Given the description of an element on the screen output the (x, y) to click on. 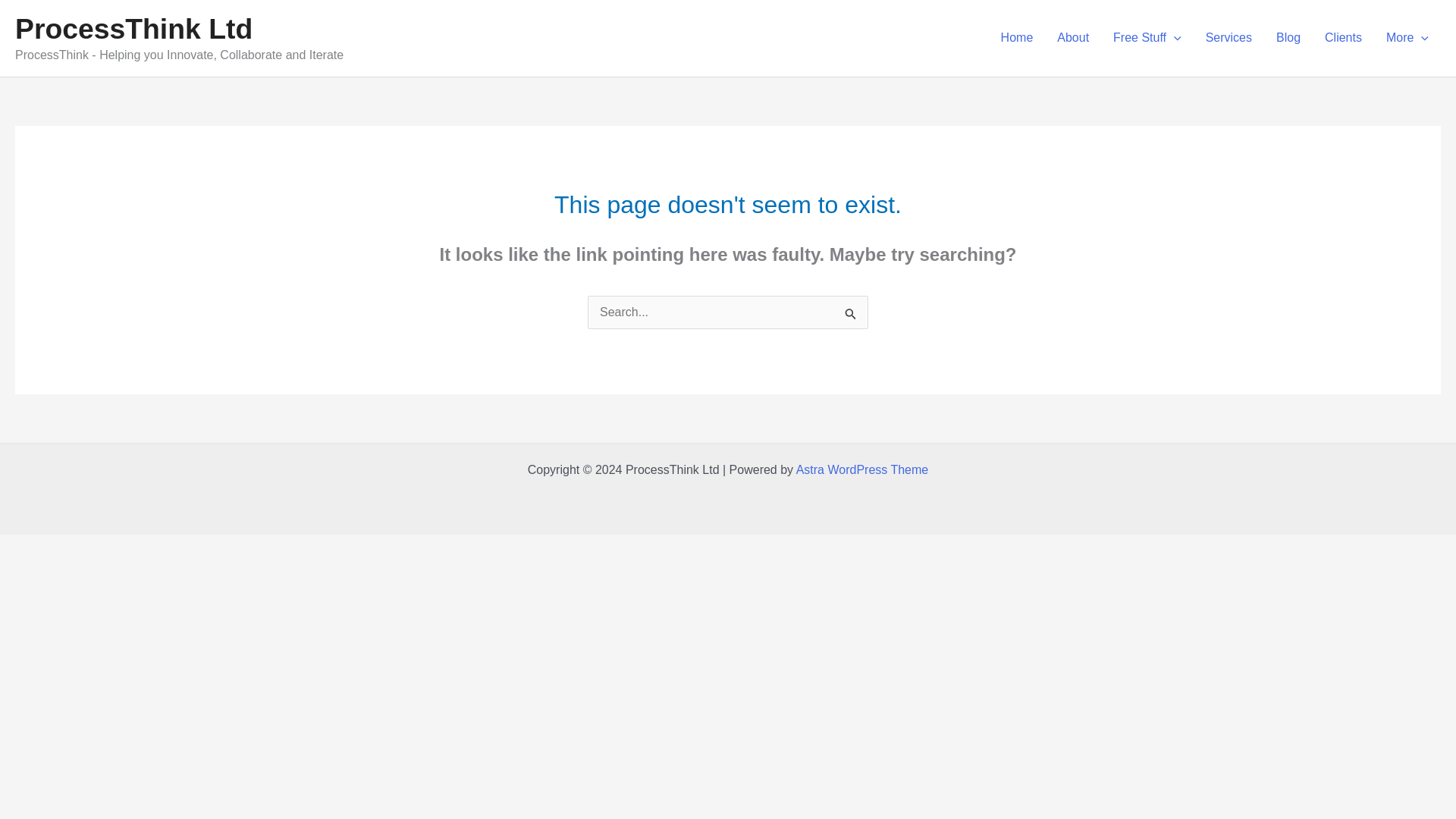
About (1072, 37)
Services (1228, 37)
Astra WordPress Theme (862, 469)
ProcessThink Ltd (132, 29)
Clients (1343, 37)
Free Stuff (1146, 37)
Blog (1288, 37)
Home (1016, 37)
More (1407, 37)
